Given the description of an element on the screen output the (x, y) to click on. 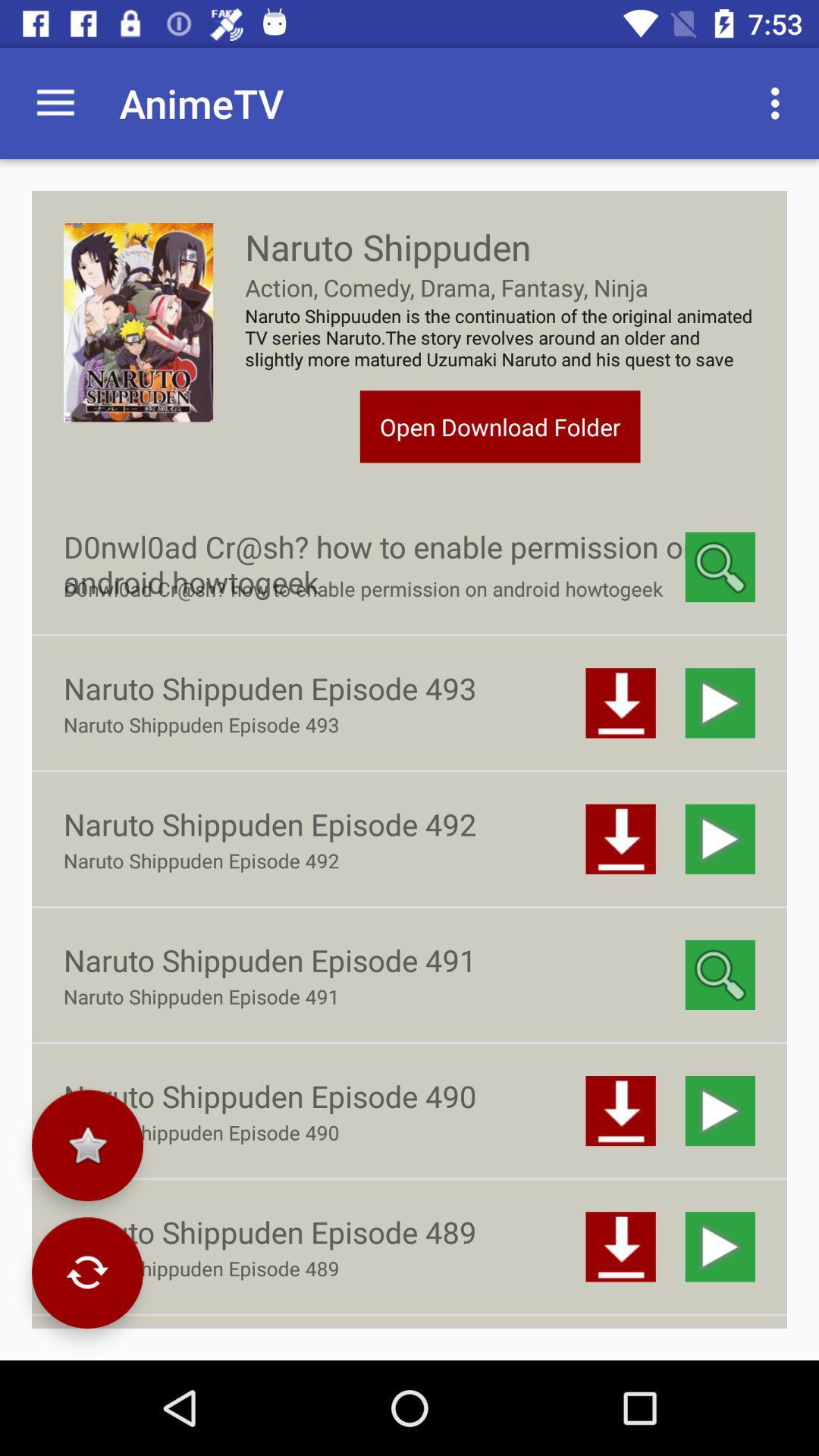
launch open download folder item (500, 426)
